Given the description of an element on the screen output the (x, y) to click on. 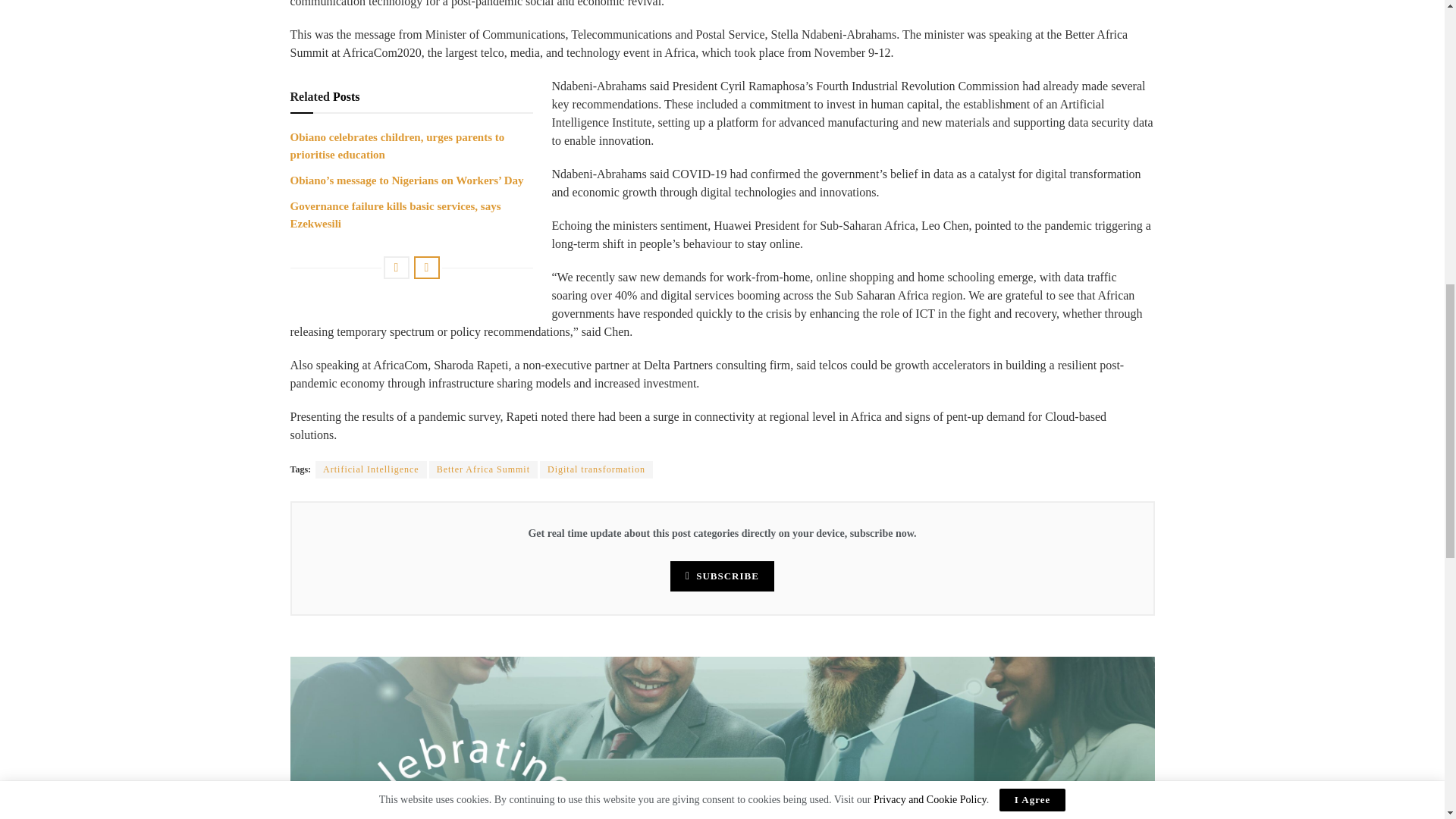
Artificial Intelligence (370, 469)
Digital transformation (596, 469)
Previous (396, 267)
Governance failure kills basic services, says Ezekwesili (394, 214)
Next (426, 267)
SUBSCRIBE (721, 576)
Better Africa Summit (483, 469)
